Given the description of an element on the screen output the (x, y) to click on. 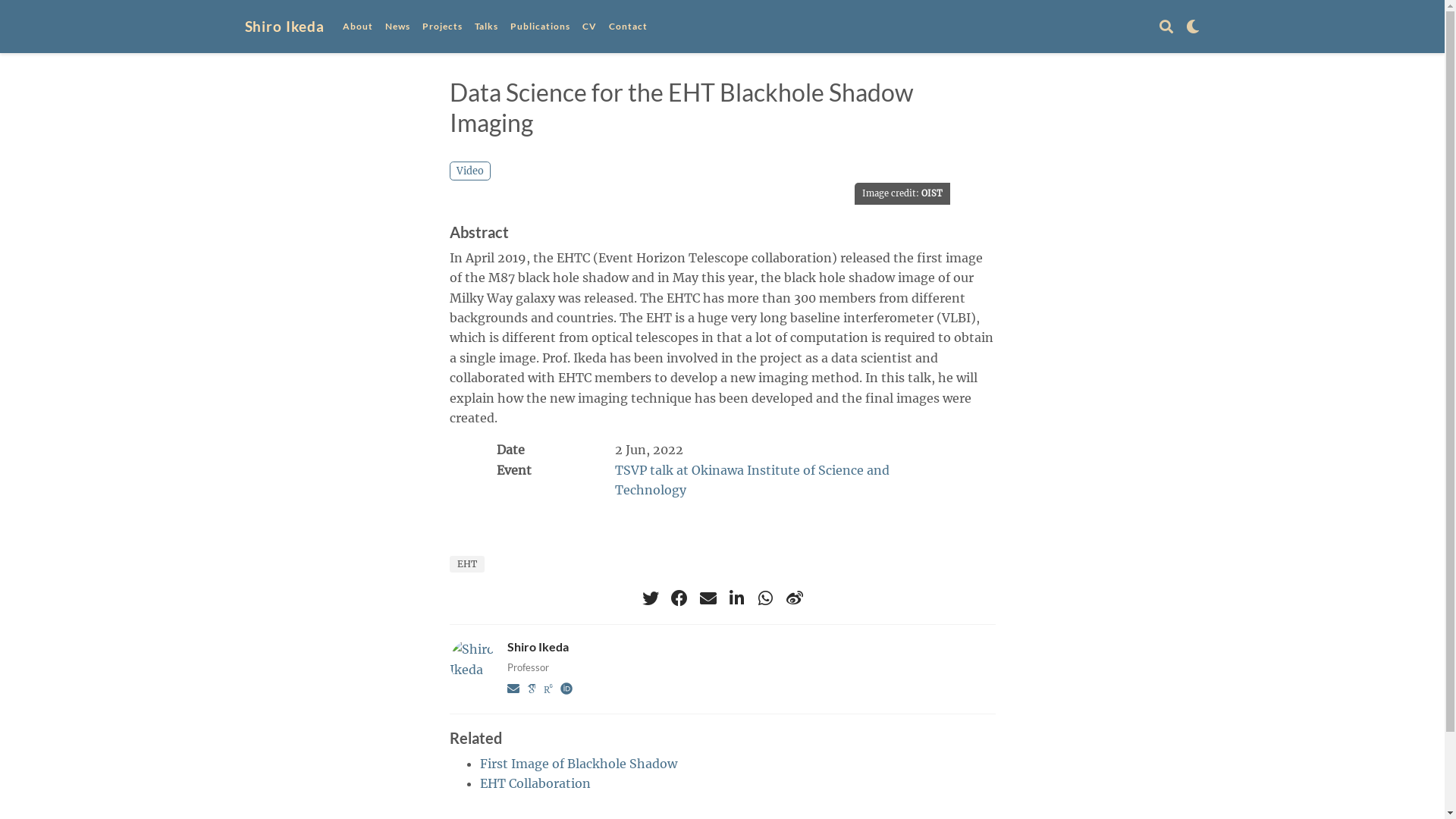
Publications Element type: text (540, 25)
CV Element type: text (589, 25)
Video Element type: text (468, 170)
Contact Element type: text (627, 25)
About Element type: text (357, 25)
First Image of Blackhole Shadow Element type: text (577, 763)
TSVP talk at Okinawa Institute of Science and Technology Element type: text (752, 479)
OIST Element type: text (930, 193)
Shiro Ikeda Element type: text (284, 26)
Talks Element type: text (486, 25)
News Element type: text (397, 25)
Shiro Ikeda Element type: text (536, 646)
EHT Element type: text (465, 563)
EHT Collaboration Element type: text (534, 782)
Projects Element type: text (442, 25)
